Given the description of an element on the screen output the (x, y) to click on. 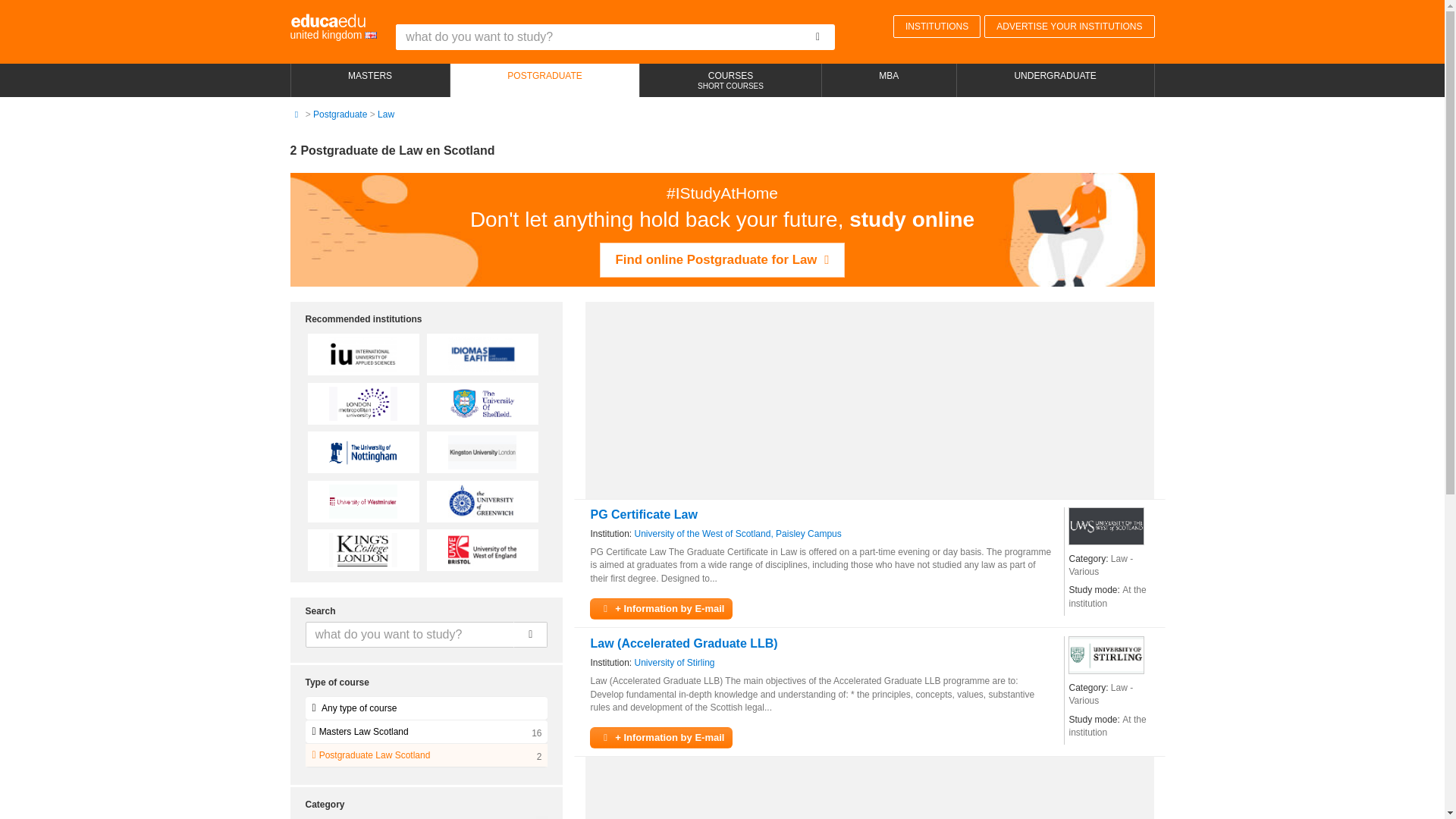
Law (385, 113)
University of Stirling (674, 662)
PG Certificate Law (643, 514)
Advertise your institutions (1069, 26)
ADVERTISE YOUR INSTITUTIONS (1069, 26)
Postgraduate (544, 80)
Go to Home (295, 113)
INSTITUTIONS (936, 26)
University of the West of Scotland, Paisley Campus (737, 533)
Find online Postgraduate for Law (722, 259)
